Given the description of an element on the screen output the (x, y) to click on. 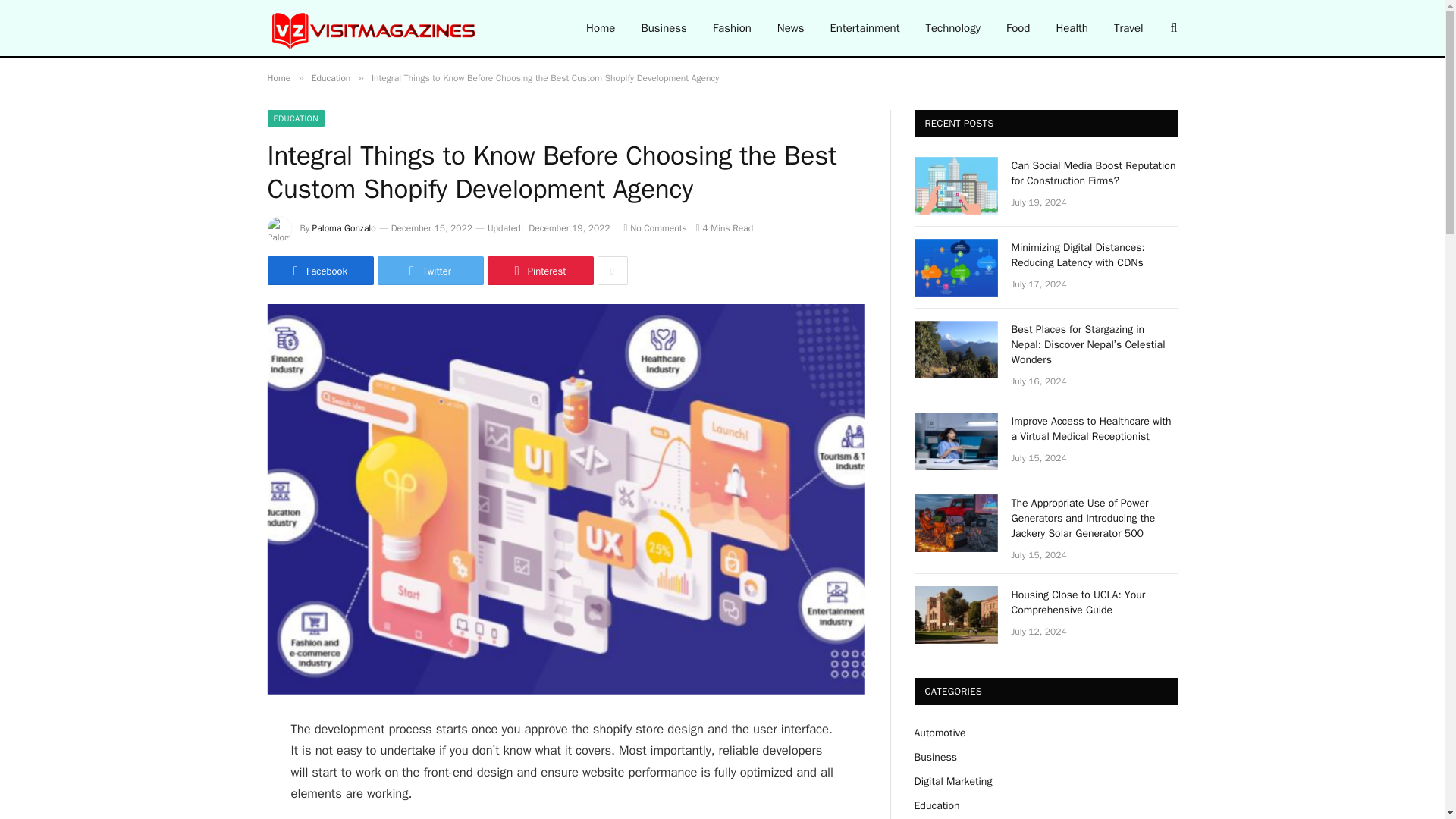
Posts by Paloma Gonzalo (344, 227)
Home (277, 78)
Fashion (732, 28)
Technology (952, 28)
Visitmagazines (373, 28)
Entertainment (864, 28)
Share on Pinterest (539, 270)
Paloma Gonzalo (344, 227)
Facebook (319, 270)
Share on Facebook (319, 270)
Show More Social Sharing (611, 270)
No Comments (654, 227)
Business (663, 28)
EDUCATION (294, 117)
Twitter (430, 270)
